Given the description of an element on the screen output the (x, y) to click on. 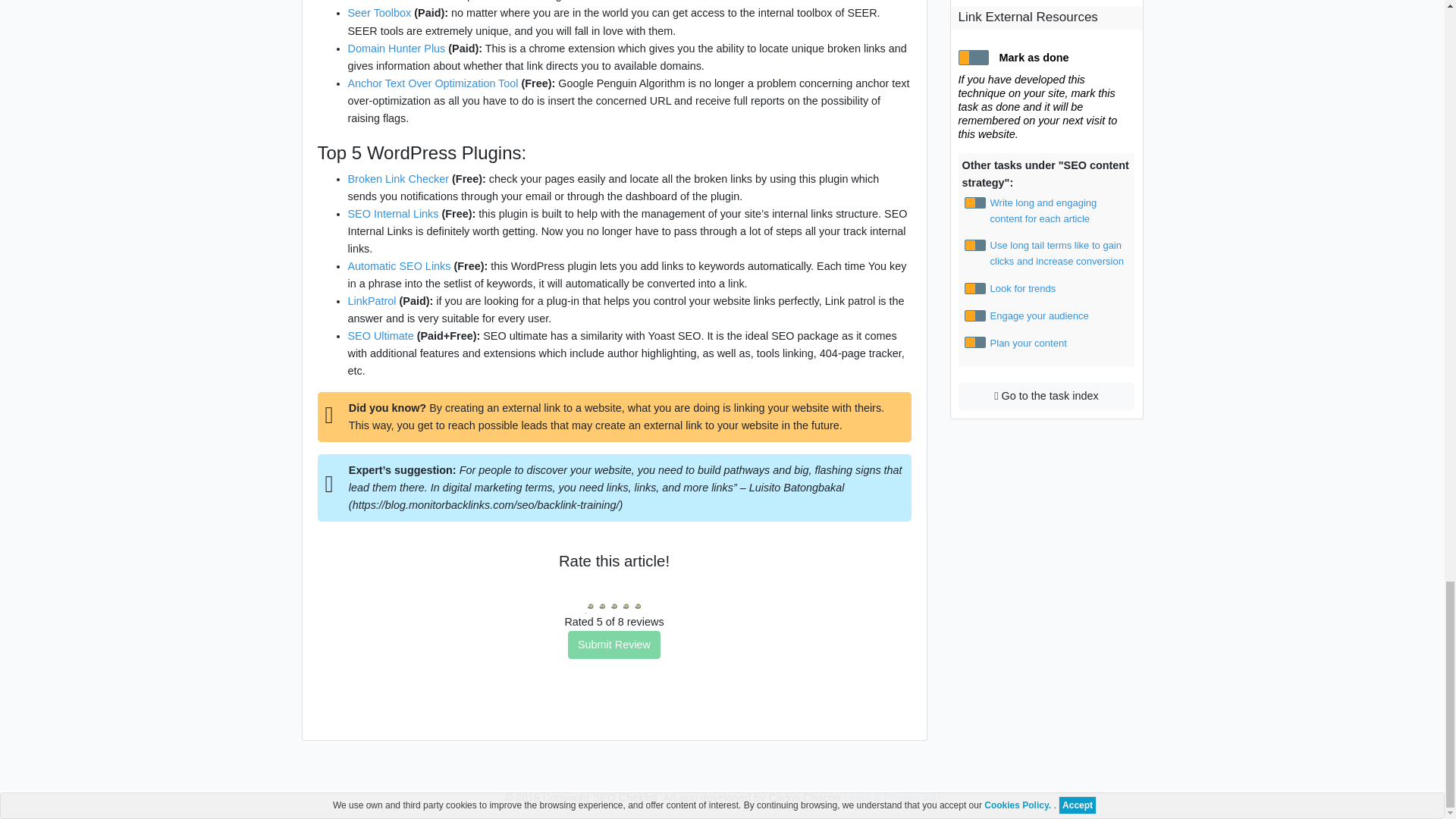
Submit Review (614, 644)
Five Stars (614, 595)
Domain Hunter Plus (396, 48)
LinkPatrol (371, 300)
Broken Link Checker (397, 178)
SEO Ultimate (380, 336)
Anchor Text Over Optimization Tool (432, 82)
SEO Internal Links (392, 214)
Automatic SEO Links (398, 265)
Seer Toolbox (378, 12)
